Given the description of an element on the screen output the (x, y) to click on. 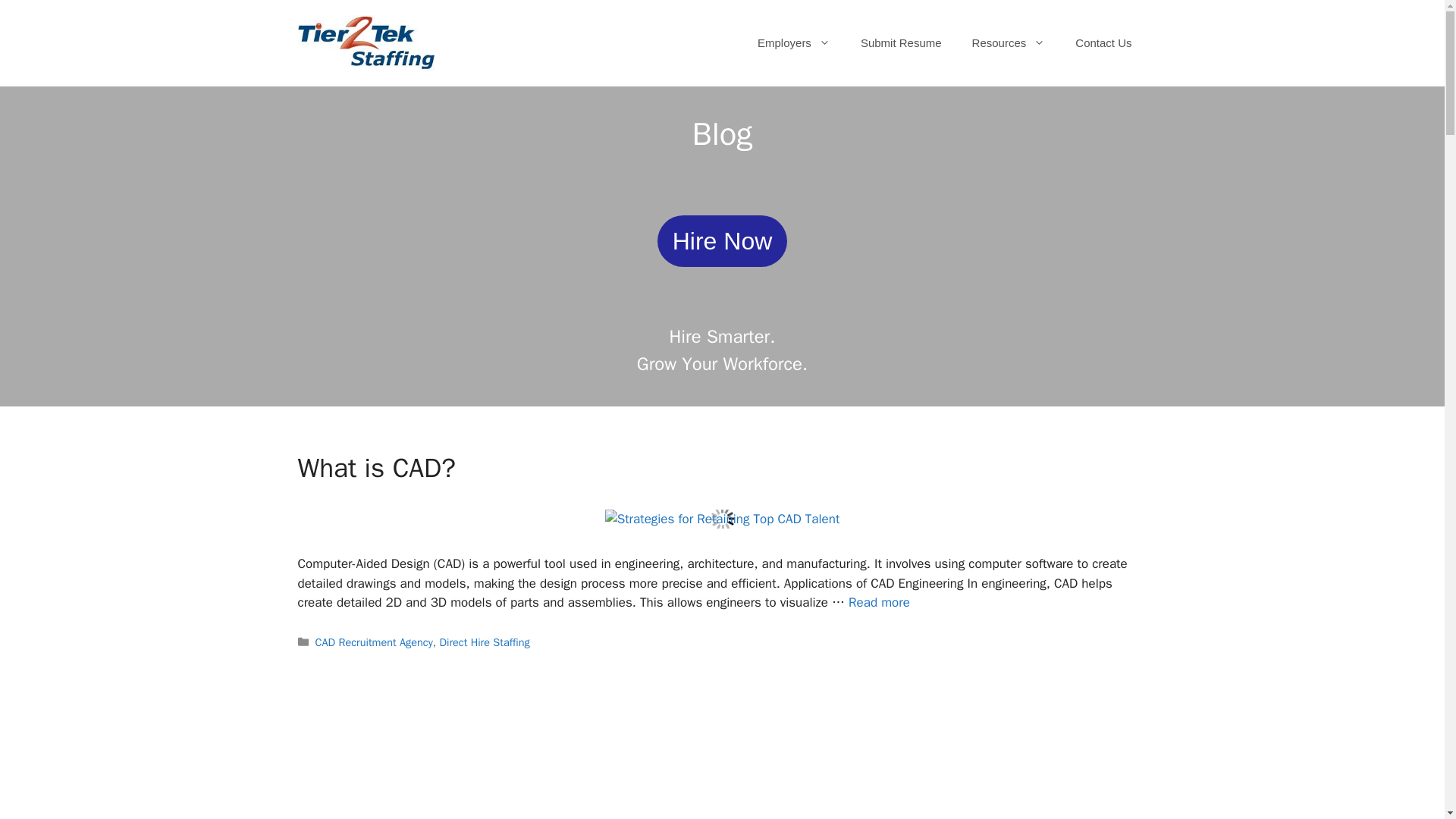
Contact Us (1103, 43)
What is CAD? (879, 602)
CAD Recruitment Agency (373, 642)
Employers (793, 43)
Direct Hire Staffing (484, 642)
Resources (1008, 43)
Submit Resume (900, 43)
Read more (879, 602)
What is CAD? (375, 467)
Hire Now (722, 240)
